Given the description of an element on the screen output the (x, y) to click on. 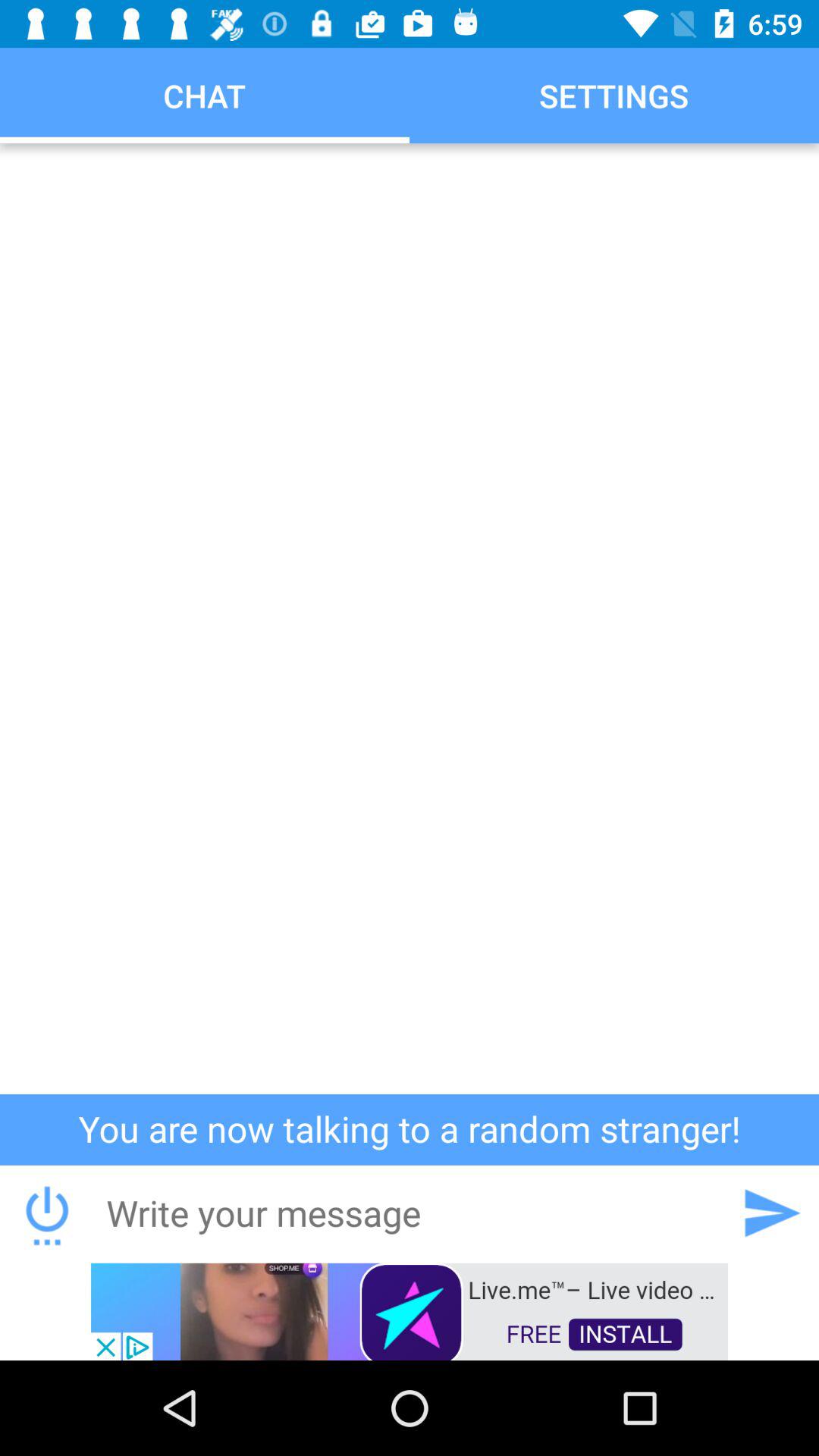
power off (47, 1212)
